Given the description of an element on the screen output the (x, y) to click on. 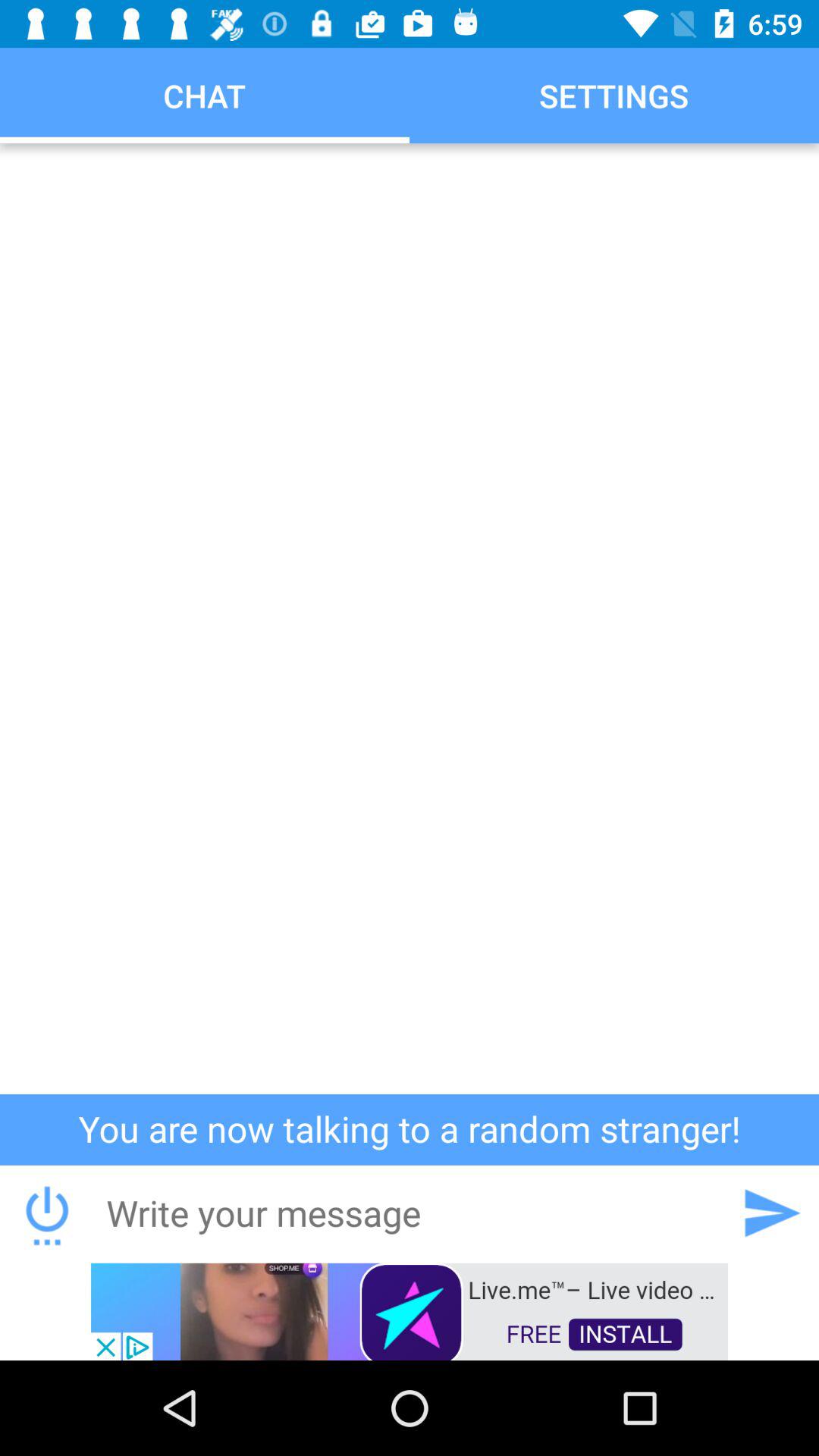
power off (47, 1212)
